Given the description of an element on the screen output the (x, y) to click on. 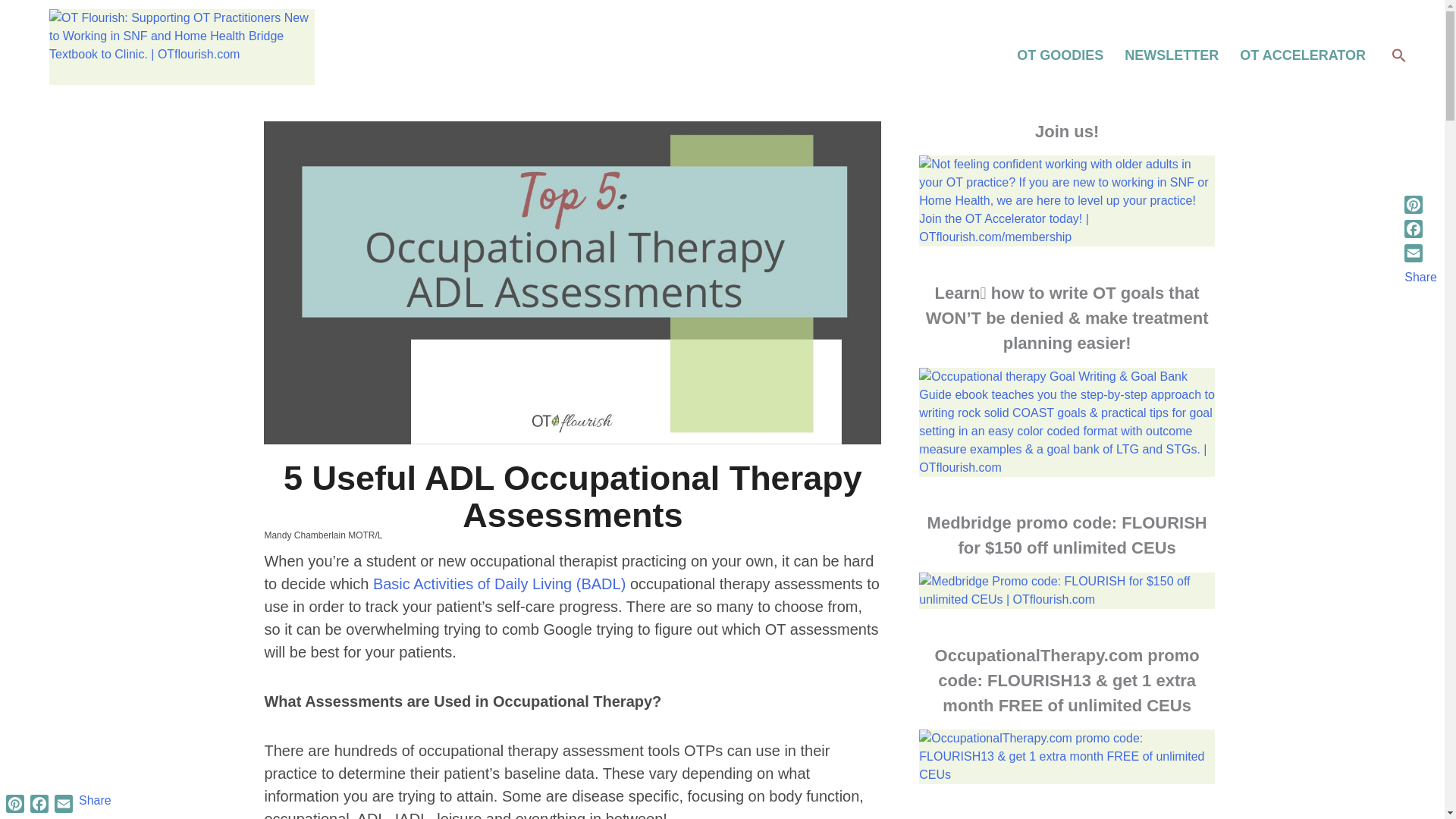
Facebook (1419, 228)
OT GOODIES (1059, 54)
Email (1419, 252)
Facebook (38, 803)
Pinterest (1419, 204)
NEWSLETTER (1170, 54)
Pinterest (14, 803)
OT ACCELERATOR (1301, 54)
